Given the description of an element on the screen output the (x, y) to click on. 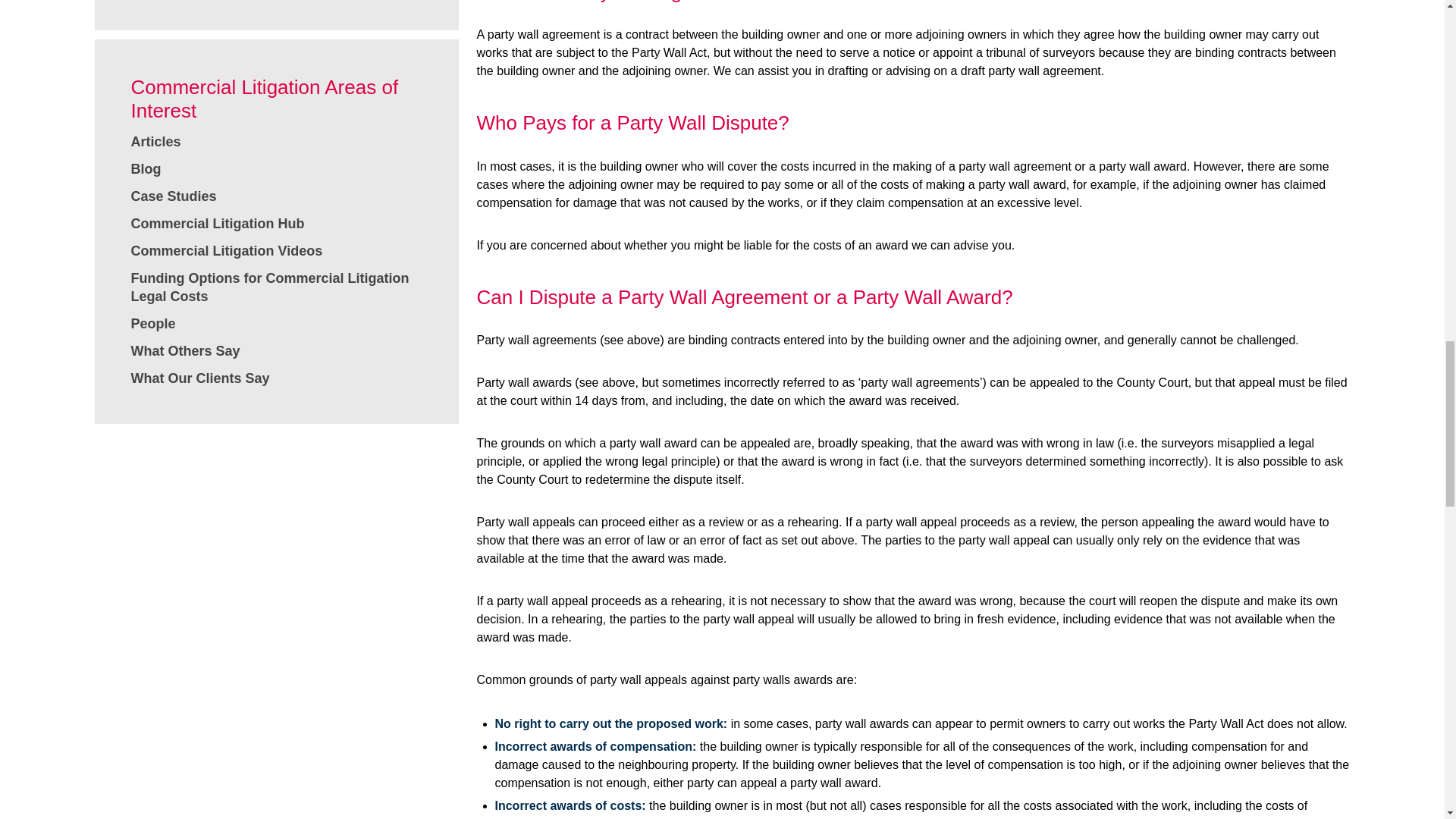
Commercial Litigation Videos (226, 250)
What Our Clients Say (200, 378)
Case Studies (173, 196)
People (152, 323)
Articles (155, 141)
Blog (145, 168)
Funding Options for Commercial Litigation Legal Costs (270, 287)
Commercial Litigation Hub (217, 223)
What Others Say (185, 350)
